Given the description of an element on the screen output the (x, y) to click on. 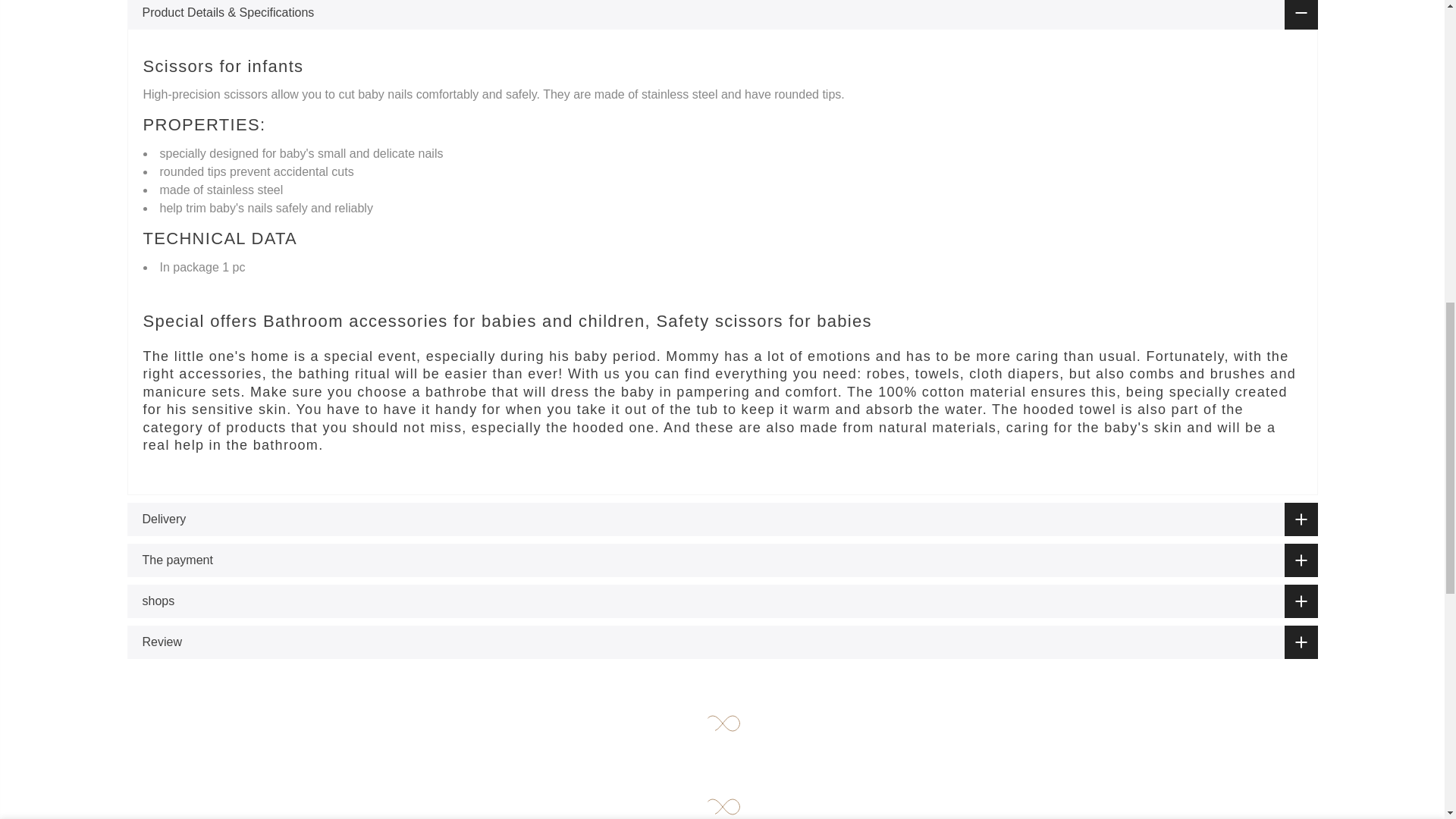
The payment (722, 560)
Delivery (722, 519)
1 (1153, 35)
shops (722, 601)
